Given the description of an element on the screen output the (x, y) to click on. 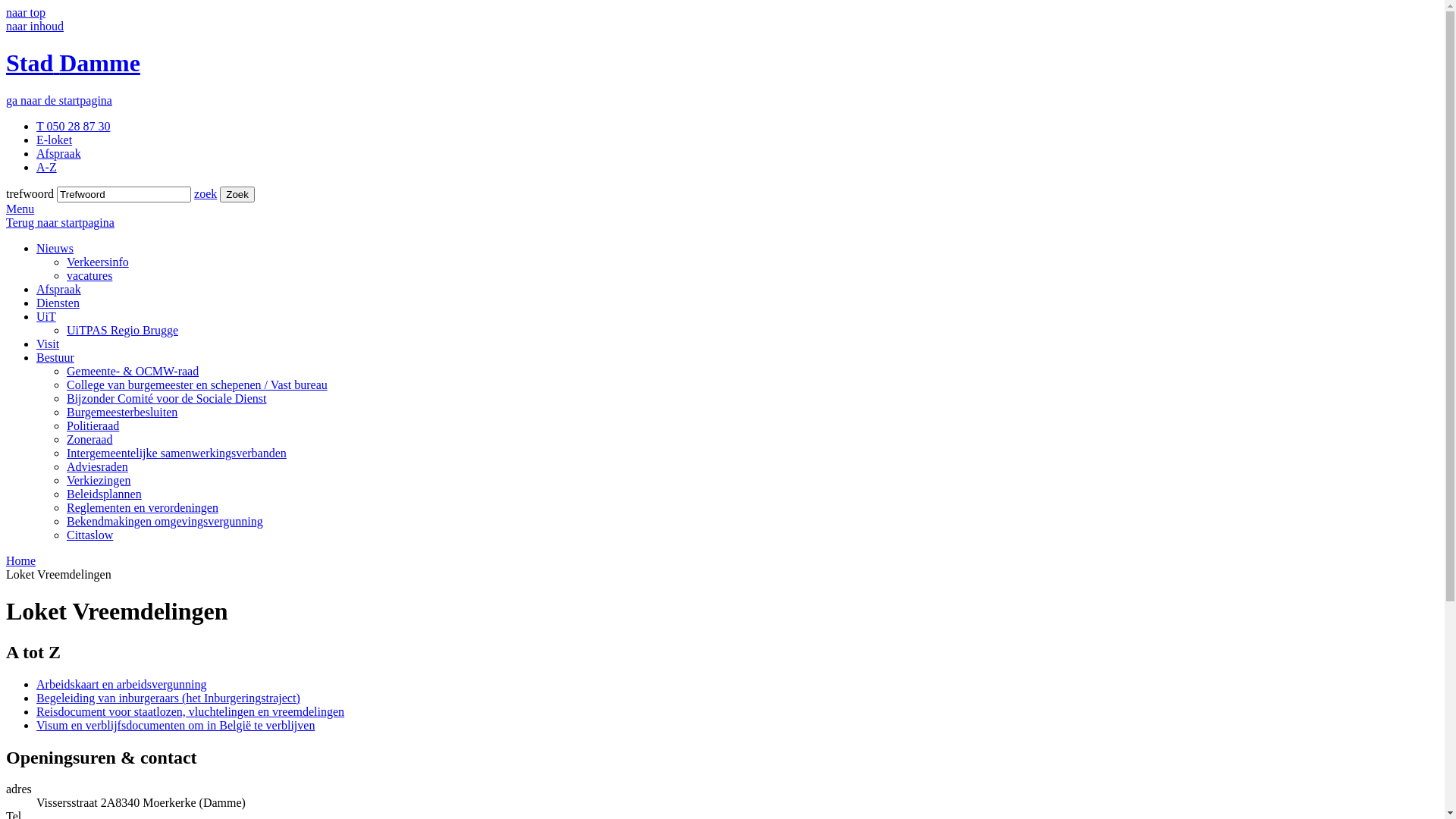
Home Element type: text (20, 560)
E-loket Element type: text (54, 139)
Adviesraden Element type: text (97, 466)
College van burgemeester en schepenen / Vast bureau Element type: text (196, 384)
Verkeersinfo Element type: text (97, 261)
Politieraad Element type: text (92, 425)
Visit Element type: text (47, 343)
Terug naar startpagina Element type: text (60, 222)
Verkiezingen Element type: text (98, 479)
Menu Element type: text (20, 208)
naar top Element type: text (25, 12)
Nieuws Element type: text (54, 247)
vacatures Element type: text (89, 275)
Beleidsplannen Element type: text (103, 493)
naar inhoud Element type: text (34, 25)
Afspraak Element type: text (58, 153)
Stad Damme
ga naar de startpagina Element type: text (722, 77)
Cittaslow Element type: text (89, 534)
Begeleiding van inburgeraars (het Inburgeringstraject) Element type: text (168, 697)
Reglementen en verordeningen Element type: text (142, 507)
trefwoord Element type: hover (123, 194)
Zoneraad Element type: text (89, 439)
Arbeidskaart en arbeidsvergunning Element type: text (121, 683)
Bestuur Element type: text (55, 357)
Gemeente- & OCMW-raad Element type: text (132, 370)
Diensten Element type: text (57, 302)
T 050 28 87 30 Element type: text (72, 125)
Burgemeesterbesluiten Element type: text (121, 411)
UiT Element type: text (46, 316)
Zoeken Element type: hover (236, 194)
Intergemeentelijke samenwerkingsverbanden Element type: text (176, 452)
A-Z Element type: text (46, 166)
Bekendmakingen omgevingsvergunning Element type: text (164, 520)
UiTPAS Regio Brugge Element type: text (122, 329)
zoek Element type: text (205, 193)
Reisdocument voor staatlozen, vluchtelingen en vreemdelingen Element type: text (190, 711)
Afspraak Element type: text (58, 288)
Zoek Element type: text (236, 194)
